Given the description of an element on the screen output the (x, y) to click on. 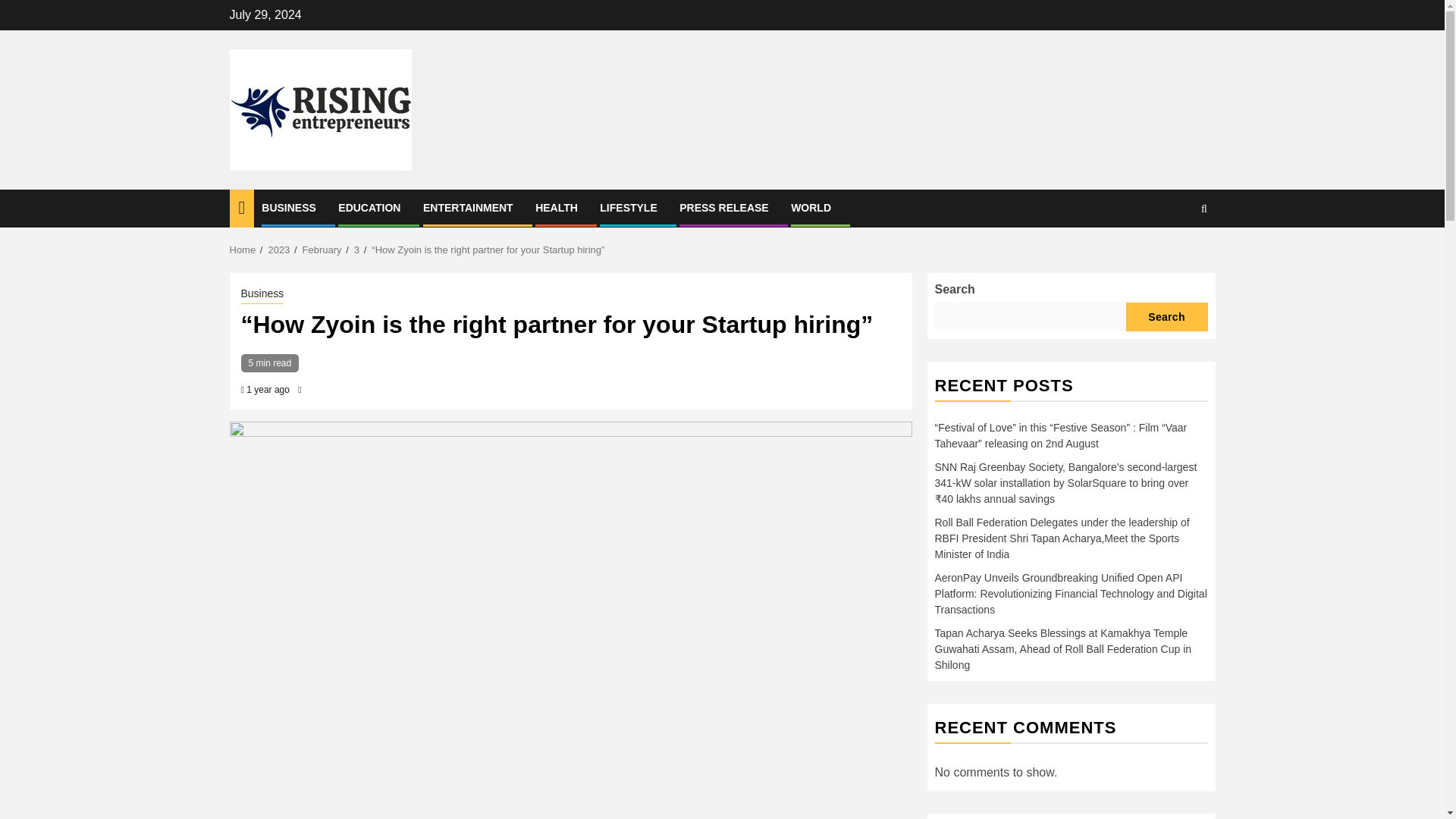
WORLD (810, 207)
Search (1174, 254)
HEALTH (556, 207)
PRESS RELEASE (723, 207)
EDUCATION (368, 207)
ENTERTAINMENT (468, 207)
BUSINESS (288, 207)
Home (242, 249)
LIFESTYLE (627, 207)
Search (1166, 316)
Business (262, 294)
February (322, 249)
2023 (278, 249)
